Given the description of an element on the screen output the (x, y) to click on. 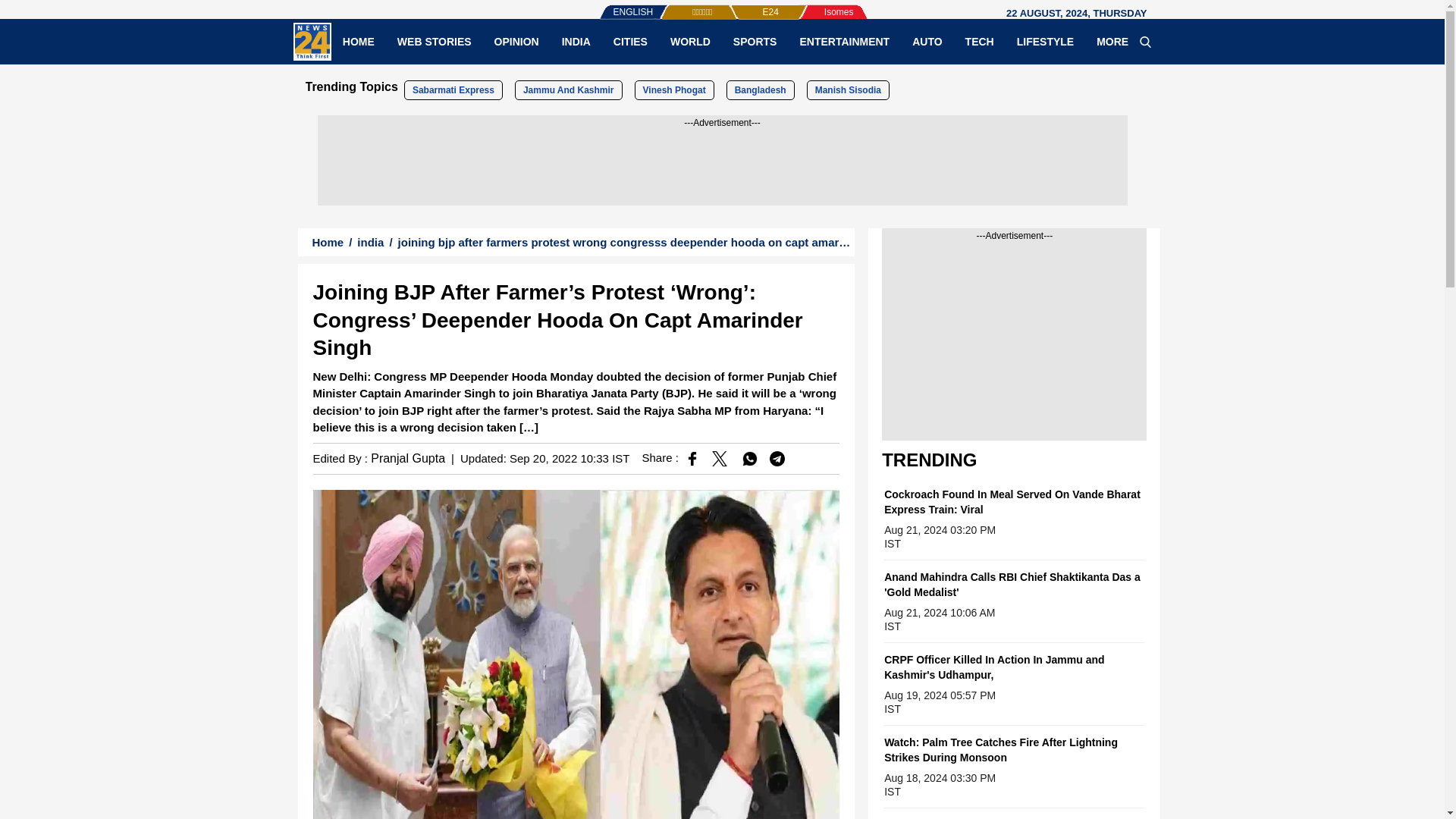
ENTERTAINMENT (844, 41)
LIFESTYLE (1045, 41)
CITIES (630, 41)
INDIA (576, 41)
E24 (744, 4)
AUTO (927, 41)
Isomes (814, 4)
WEB STORIES (434, 41)
ENGLISH (601, 4)
